Given the description of an element on the screen output the (x, y) to click on. 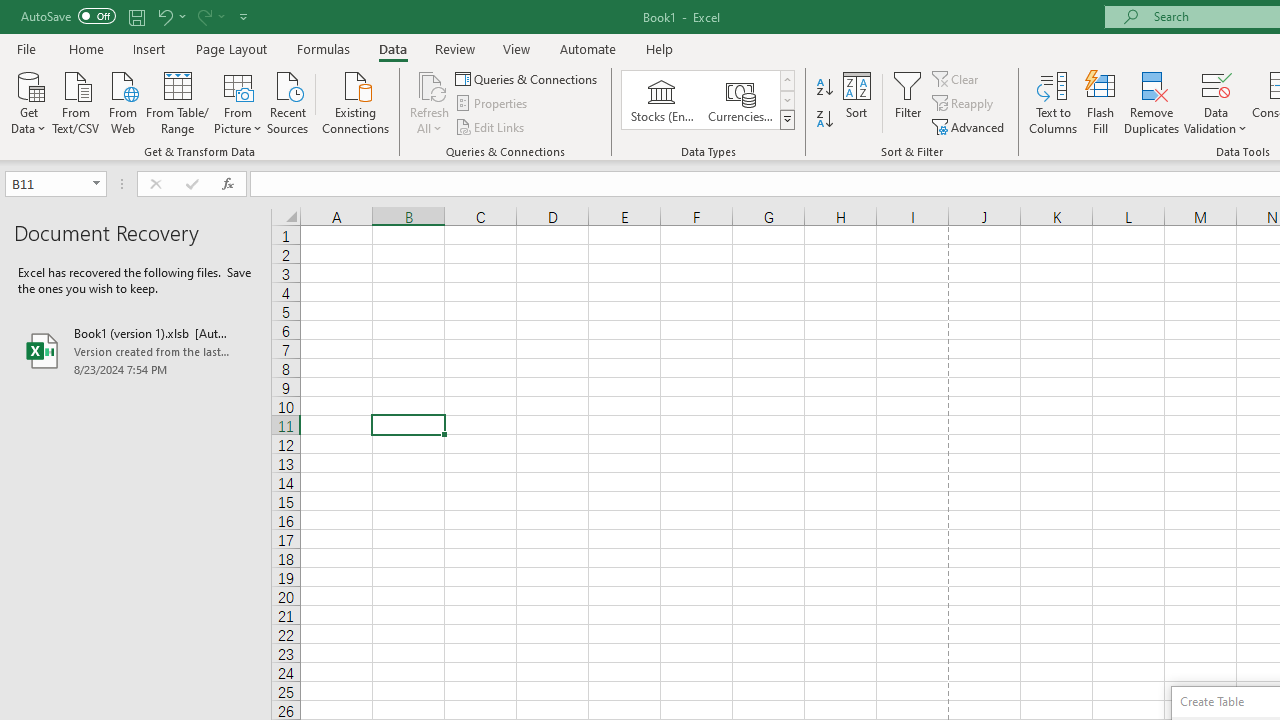
Row up (786, 79)
From Table/Range (177, 101)
Clear (957, 78)
Currencies (English) (740, 100)
Sort Z to A (824, 119)
Data Types (786, 120)
From Picture (238, 101)
